Given the description of an element on the screen output the (x, y) to click on. 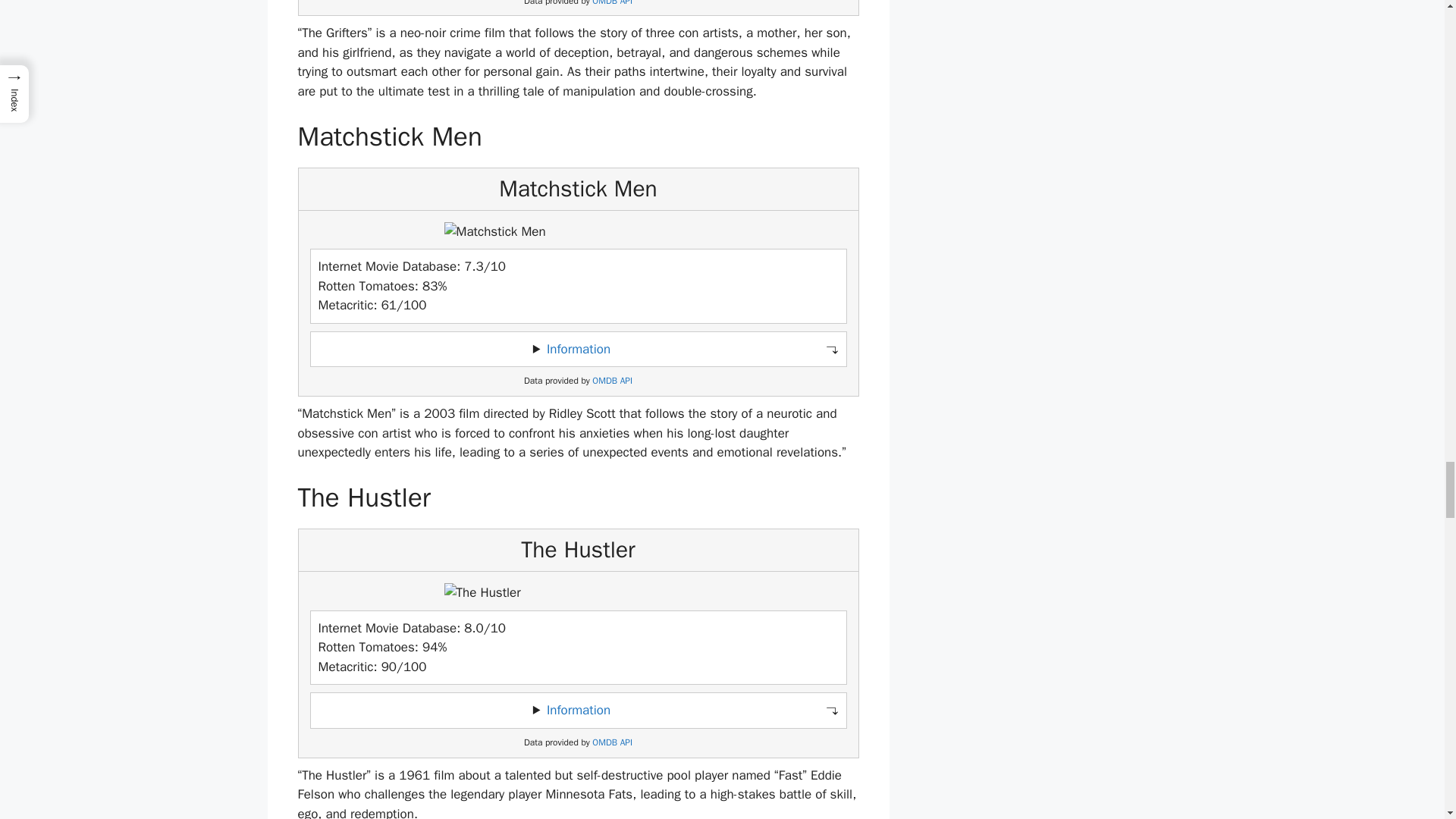
OMDB API (611, 3)
OMDB API (611, 380)
Information (578, 709)
Information (578, 349)
OMDB API (611, 742)
